Given the description of an element on the screen output the (x, y) to click on. 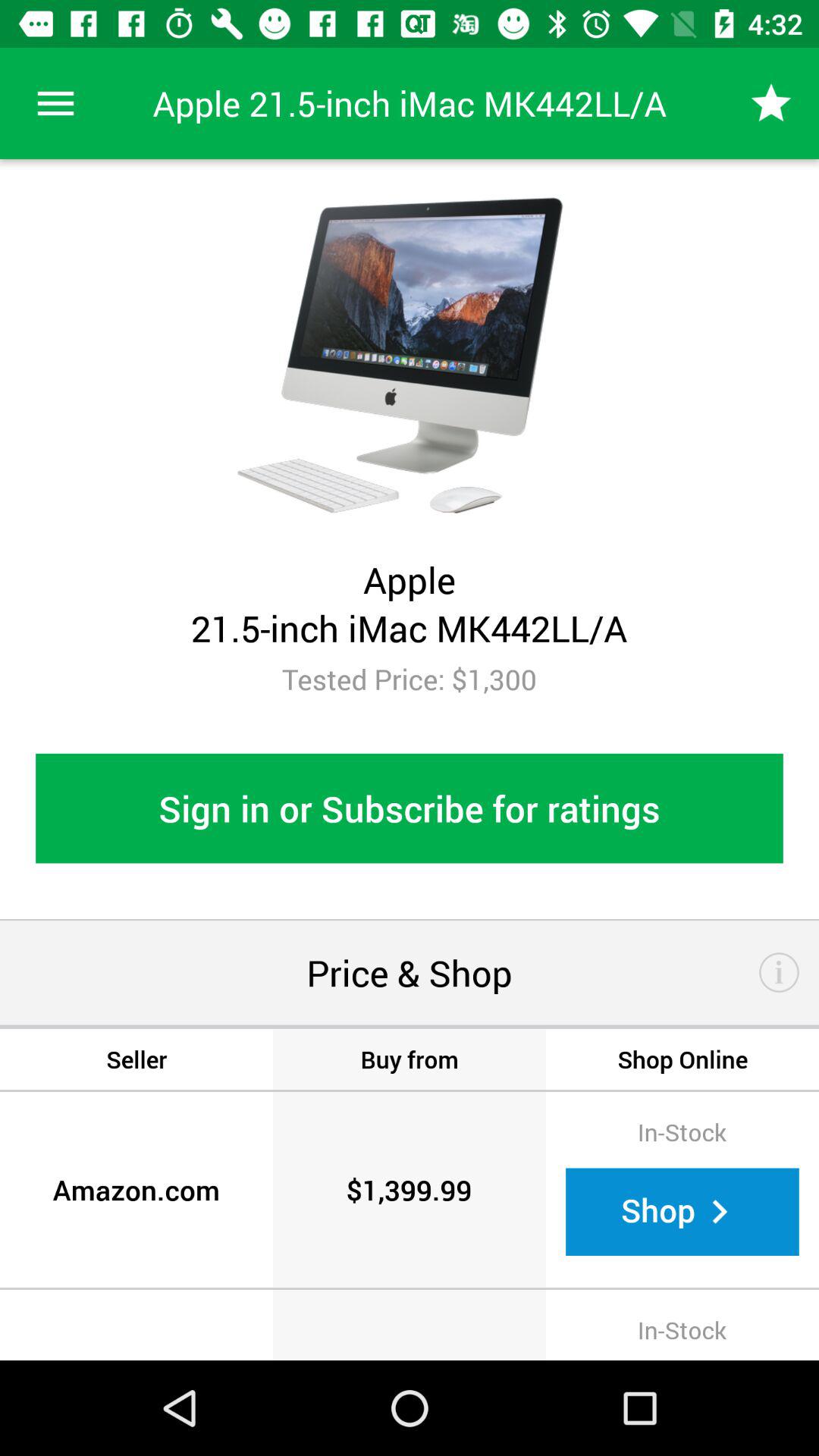
turn on icon to the right of the apple 21 5 (771, 103)
